Given the description of an element on the screen output the (x, y) to click on. 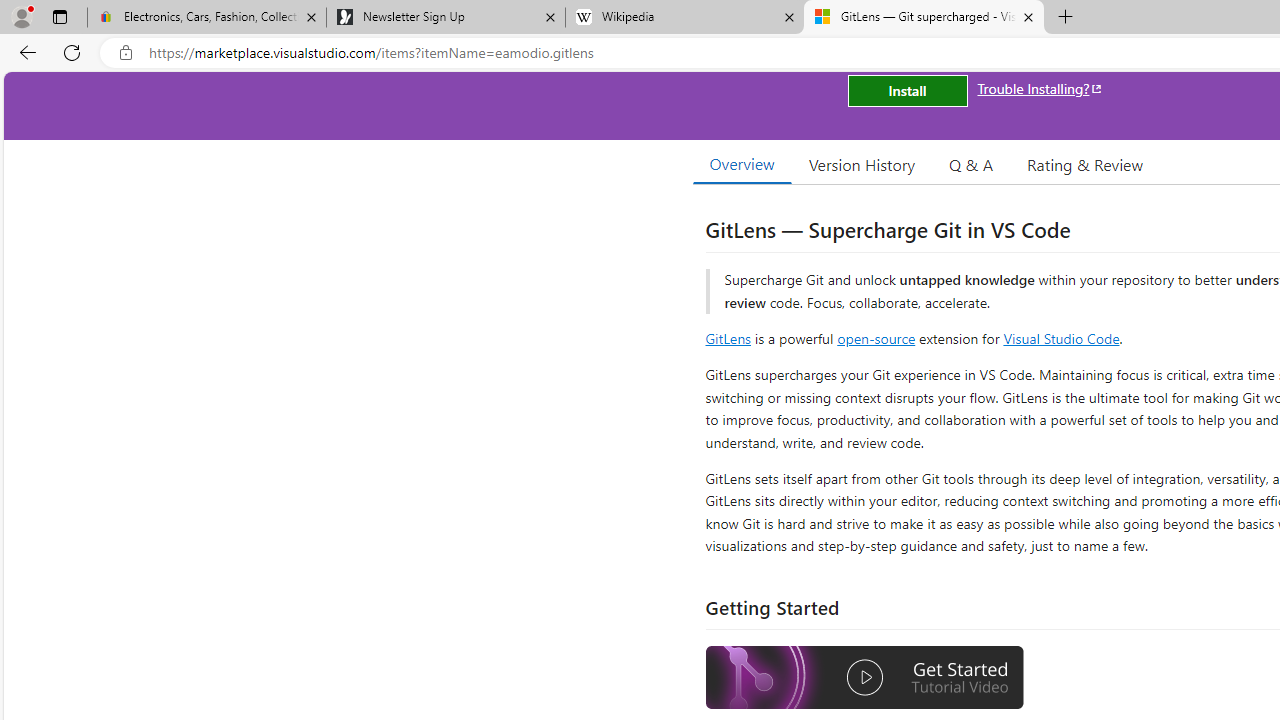
GitLens (728, 337)
Q & A (971, 164)
Newsletter Sign Up (445, 17)
Watch the GitLens Getting Started video (865, 679)
Install (907, 90)
Watch the GitLens Getting Started video (865, 678)
open-source (876, 337)
Overview (742, 164)
